Given the description of an element on the screen output the (x, y) to click on. 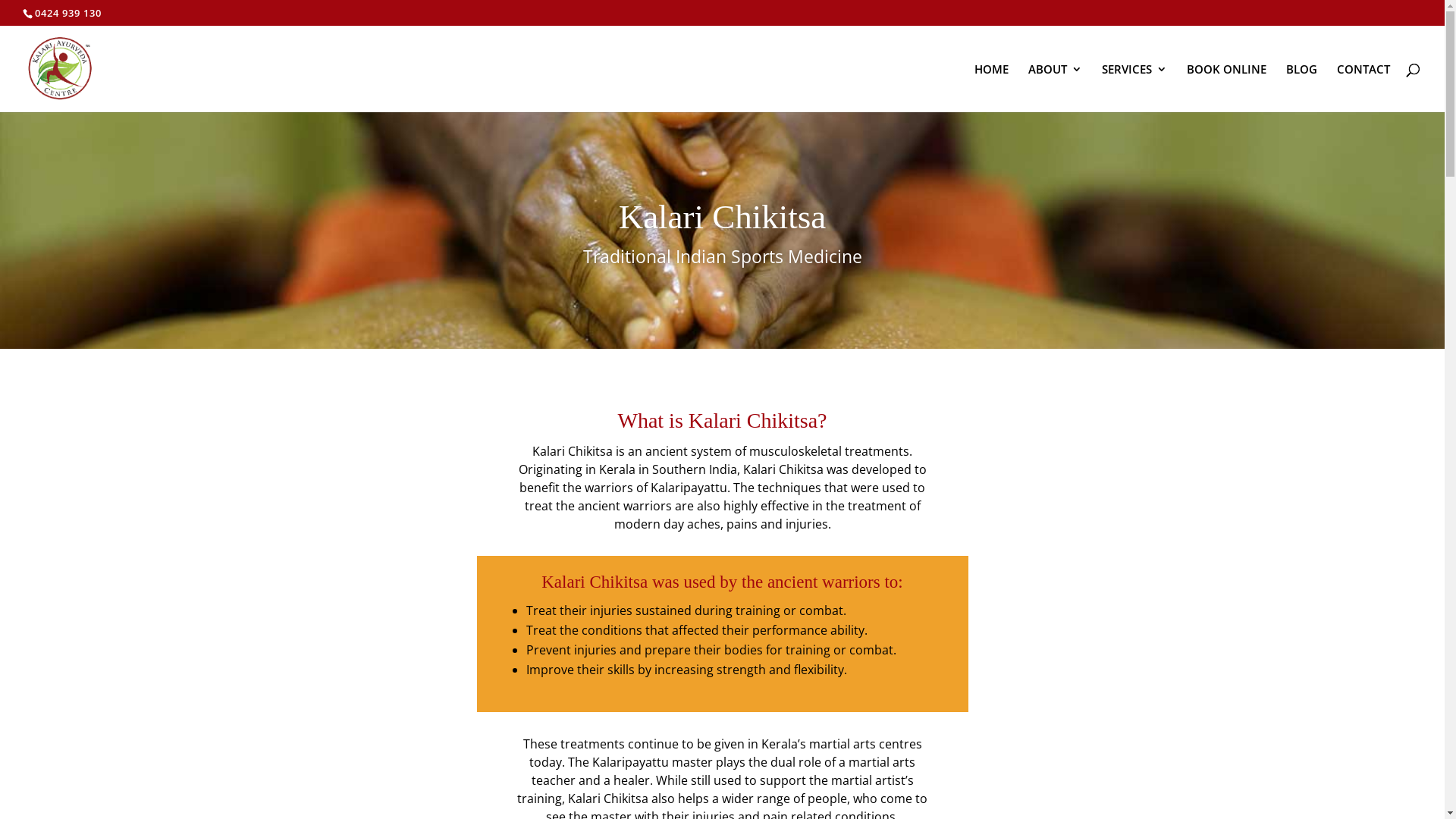
0424 939 130 Element type: text (67, 12)
HOME Element type: text (991, 87)
ABOUT Element type: text (1055, 87)
BOOK ONLINE Element type: text (1226, 87)
BLOG Element type: text (1301, 87)
SERVICES Element type: text (1134, 87)
CONTACT Element type: text (1363, 87)
